Given the description of an element on the screen output the (x, y) to click on. 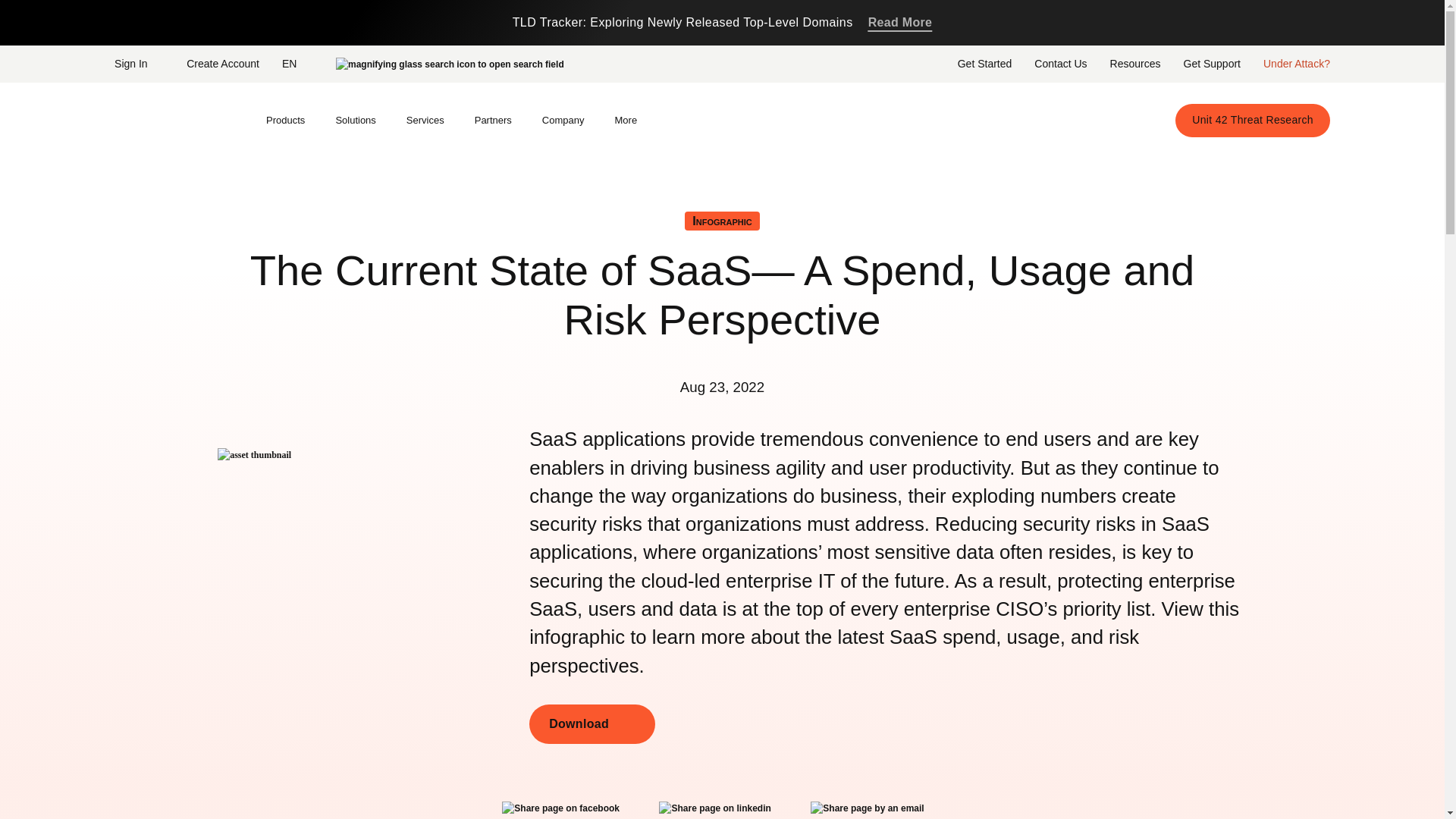
Create Account (222, 63)
Company (563, 120)
Services (425, 120)
Solutions (355, 120)
Resources (1135, 63)
Products (285, 120)
EN (297, 63)
Contact Us (1060, 63)
Get Started (984, 63)
